Given the description of an element on the screen output the (x, y) to click on. 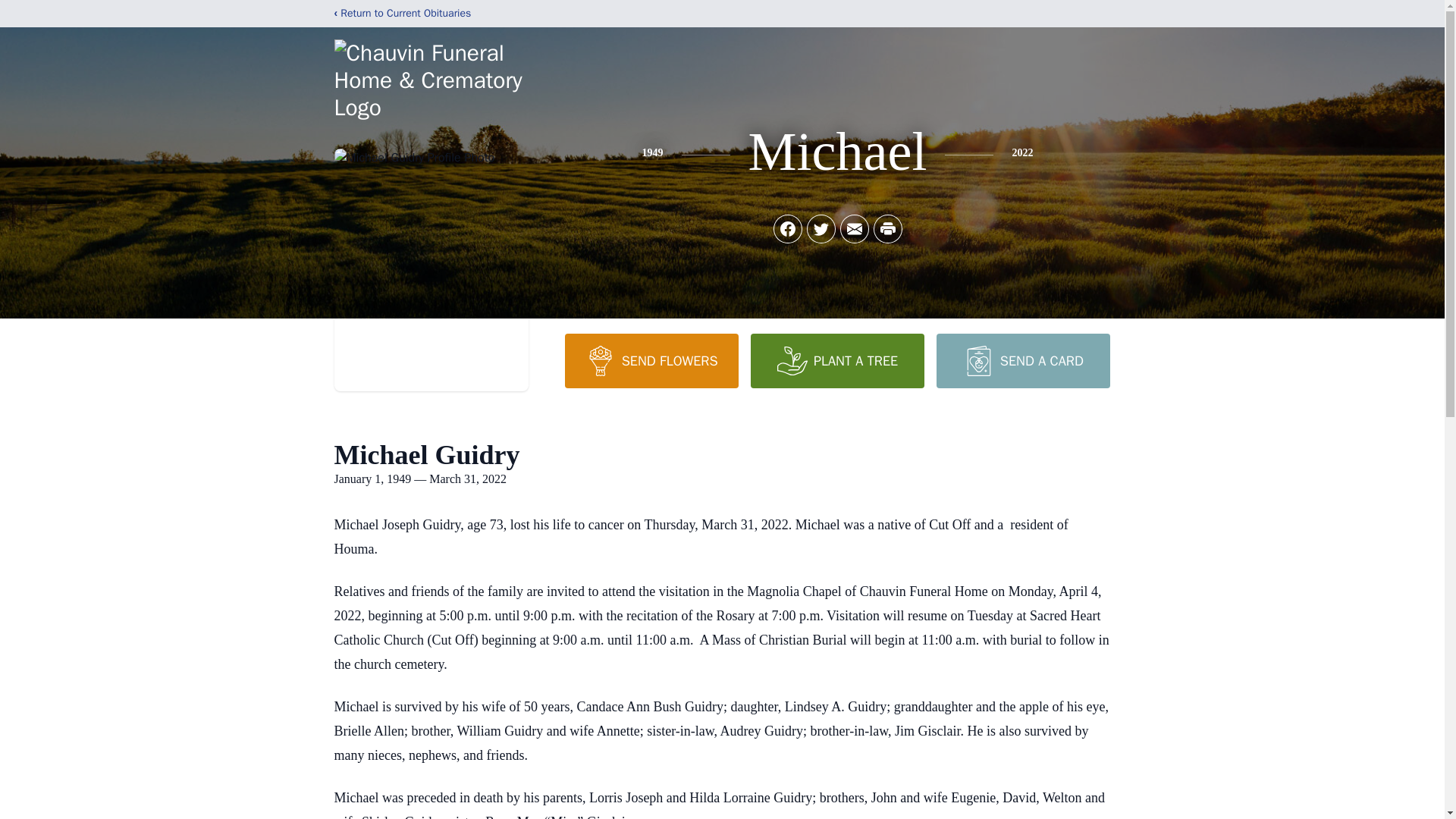
SEND A CARD (1022, 360)
PLANT A TREE (837, 360)
SEND FLOWERS (651, 360)
